Given the description of an element on the screen output the (x, y) to click on. 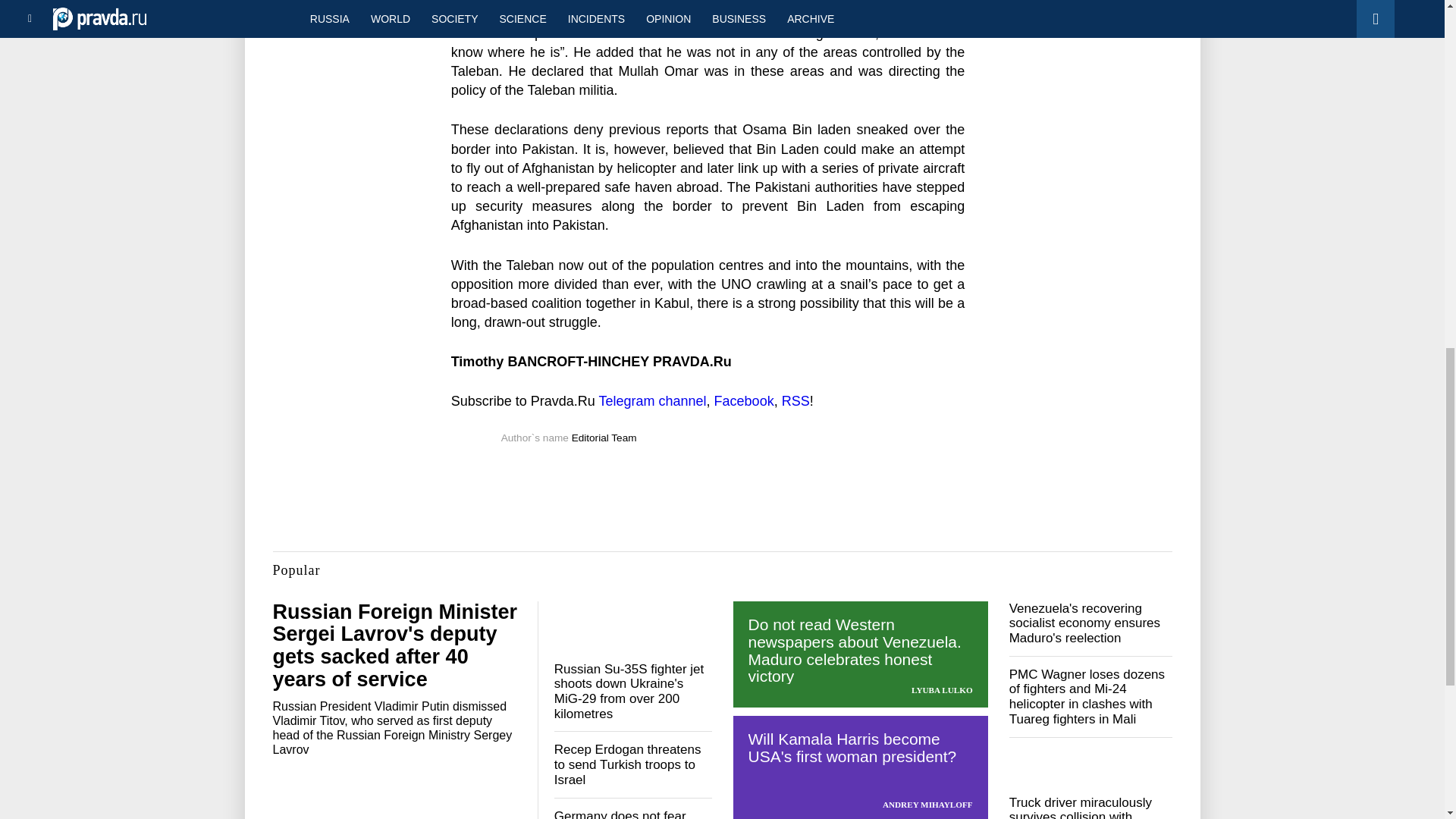
RSS (795, 400)
Back to top (1418, 79)
Editorial Team (604, 437)
Telegram channel (652, 400)
Facebook (744, 400)
